Given the description of an element on the screen output the (x, y) to click on. 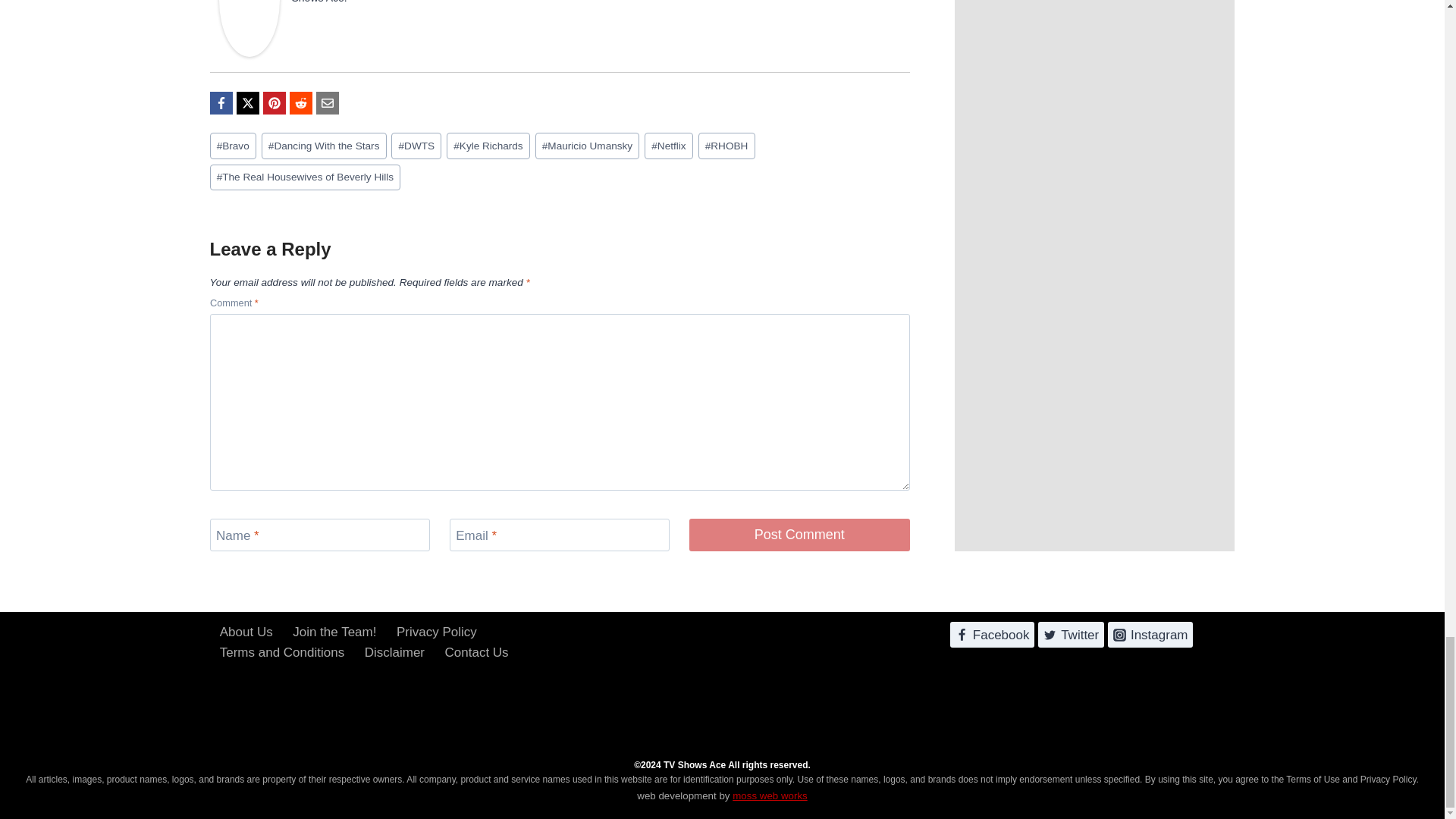
Dancing With the Stars (324, 145)
DWTS (416, 145)
Bravo (232, 145)
The Real Housewives of Beverly Hills (304, 177)
Nikole Behrens (248, 28)
Kyle Richards (487, 145)
Mauricio Umansky (587, 145)
RHOBH (726, 145)
Netflix (669, 145)
Post Comment (799, 534)
